Given the description of an element on the screen output the (x, y) to click on. 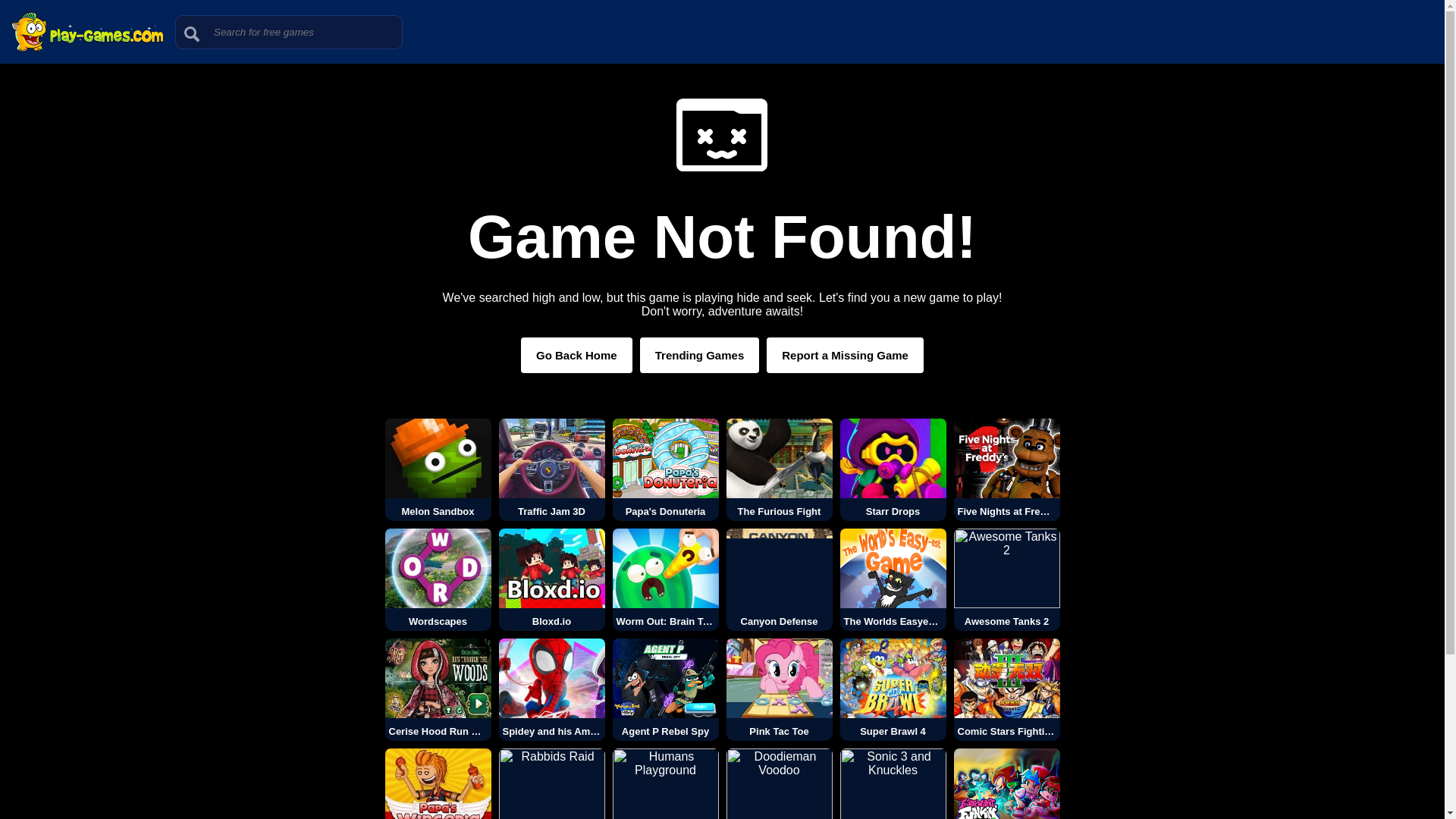
Pink Tac Toe (779, 689)
Doodieman Voodoo (779, 783)
Sonic 3 and Knuckles (893, 783)
Bloxd.io (552, 579)
Agent P Rebel Spy (665, 689)
Canyon Defense (779, 579)
Wordscapes (438, 579)
Spidey and his Amazing Friends: Swing Into Action! (552, 689)
The Furious Fight (779, 469)
Humans Playground (665, 783)
